Given the description of an element on the screen output the (x, y) to click on. 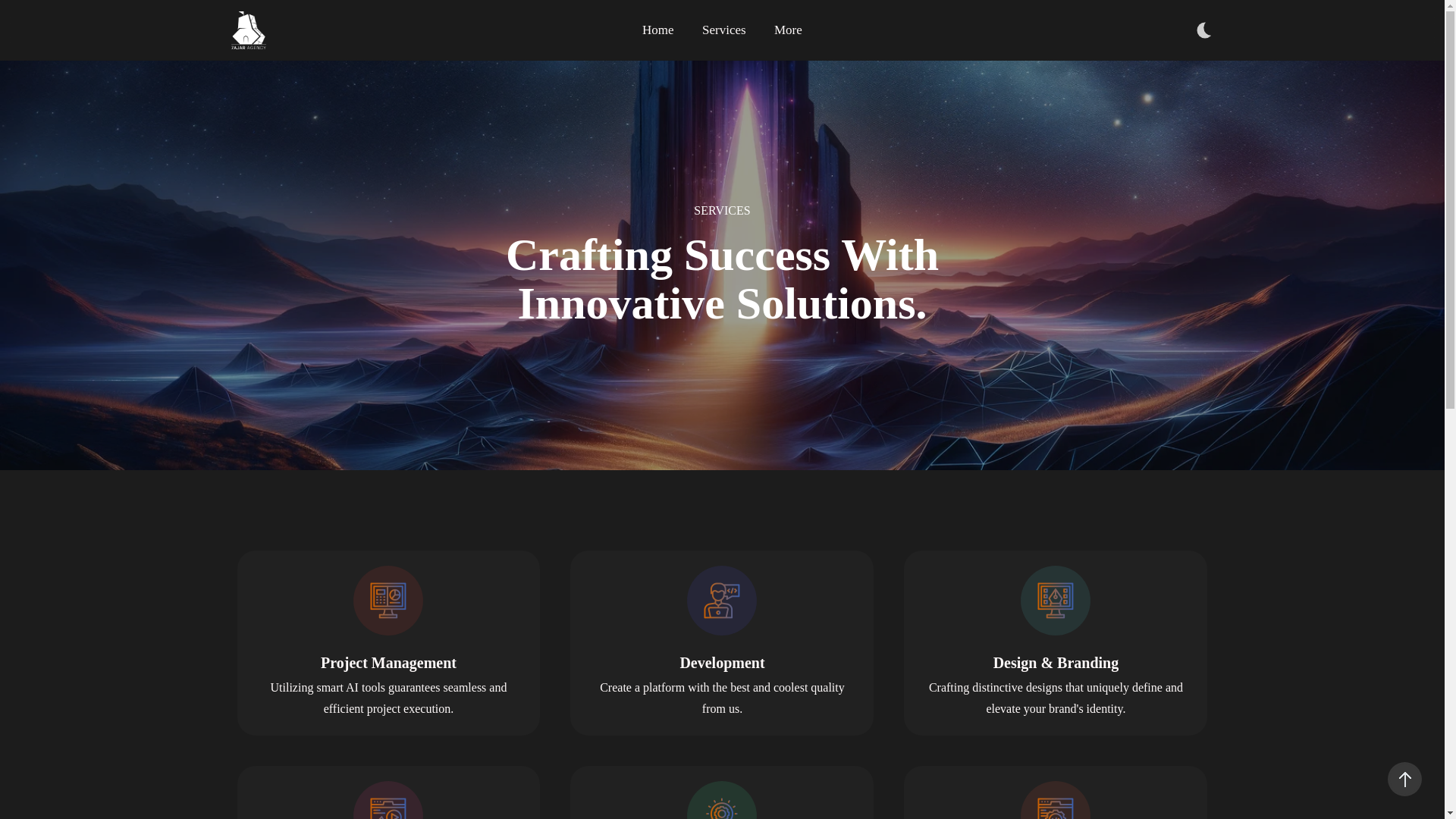
More (781, 30)
More (781, 30)
Home (664, 30)
Services (723, 30)
Services (723, 30)
Home (664, 30)
